Given the description of an element on the screen output the (x, y) to click on. 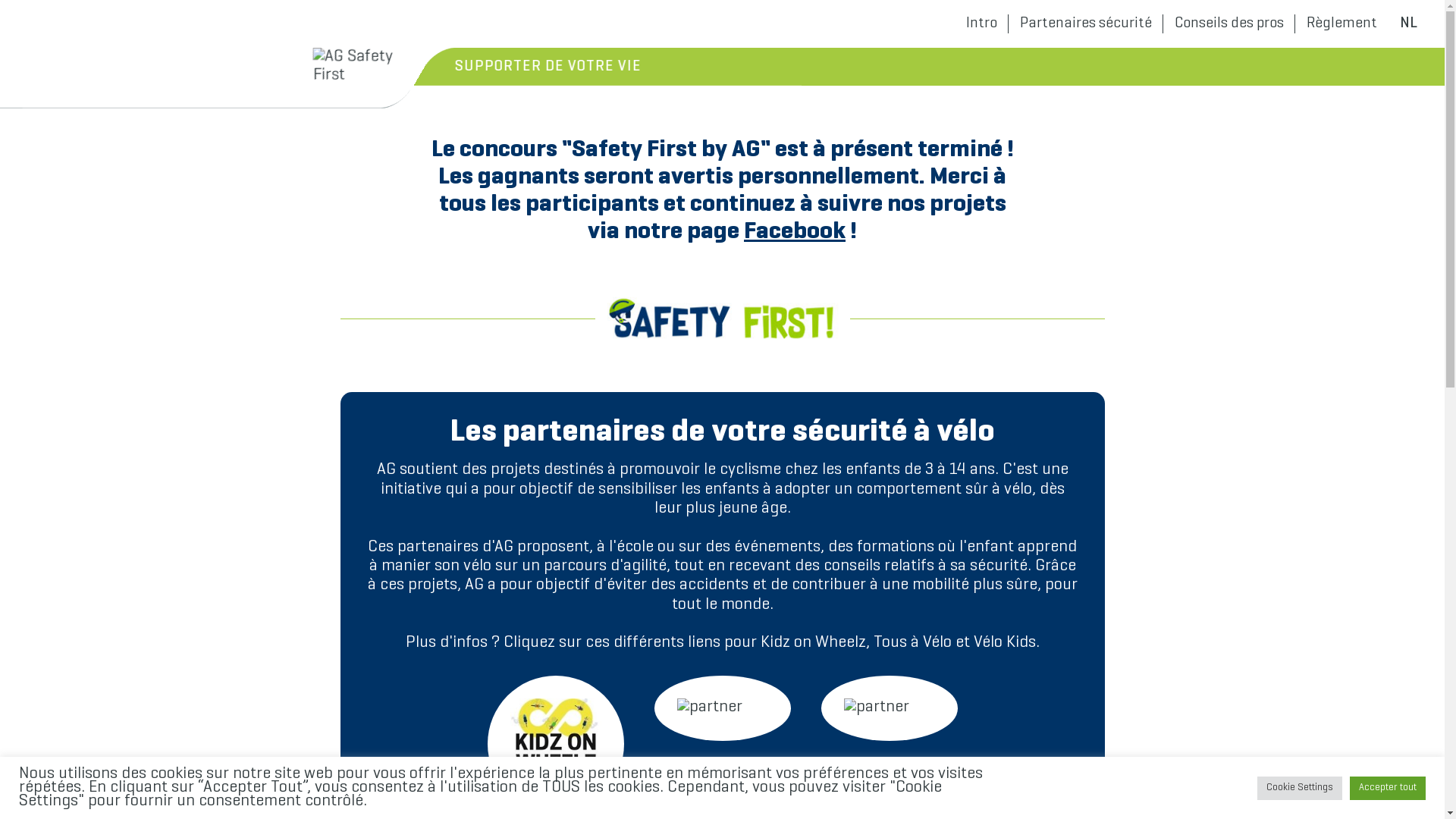
NL Element type: text (1408, 23)
Intro Element type: text (981, 23)
Cookie Settings Element type: text (1299, 788)
Facebook Element type: text (794, 231)
envoyer Element type: text (722, 26)
Conseils des pros Element type: text (1229, 23)
Accepter tout Element type: text (1387, 788)
